Given the description of an element on the screen output the (x, y) to click on. 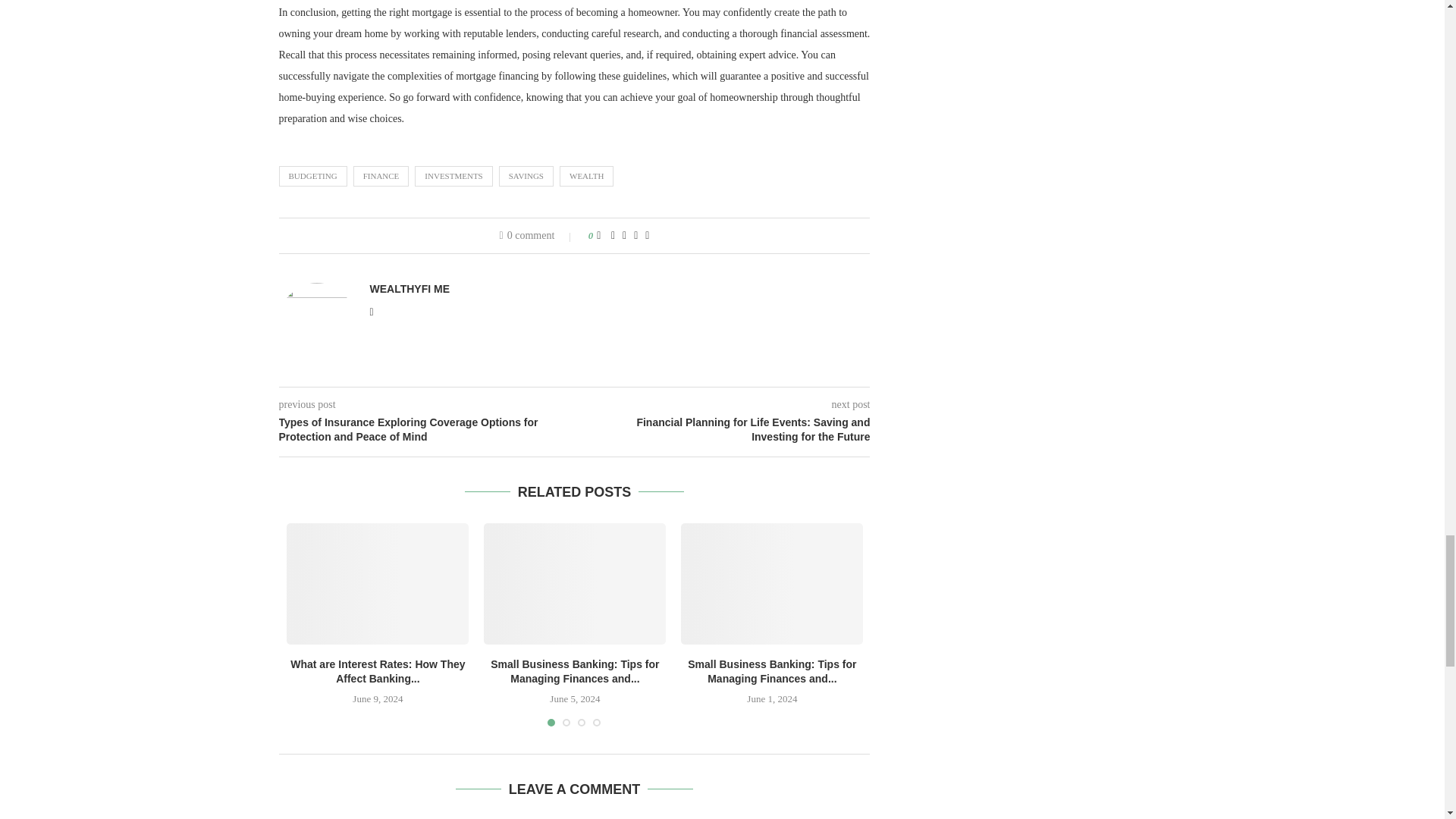
SAVINGS (526, 175)
WEALTHYFI ME (409, 288)
WEALTH (585, 175)
Author Wealthyfi Me (409, 288)
FINANCE (381, 175)
INVESTMENTS (453, 175)
BUDGETING (313, 175)
